Given the description of an element on the screen output the (x, y) to click on. 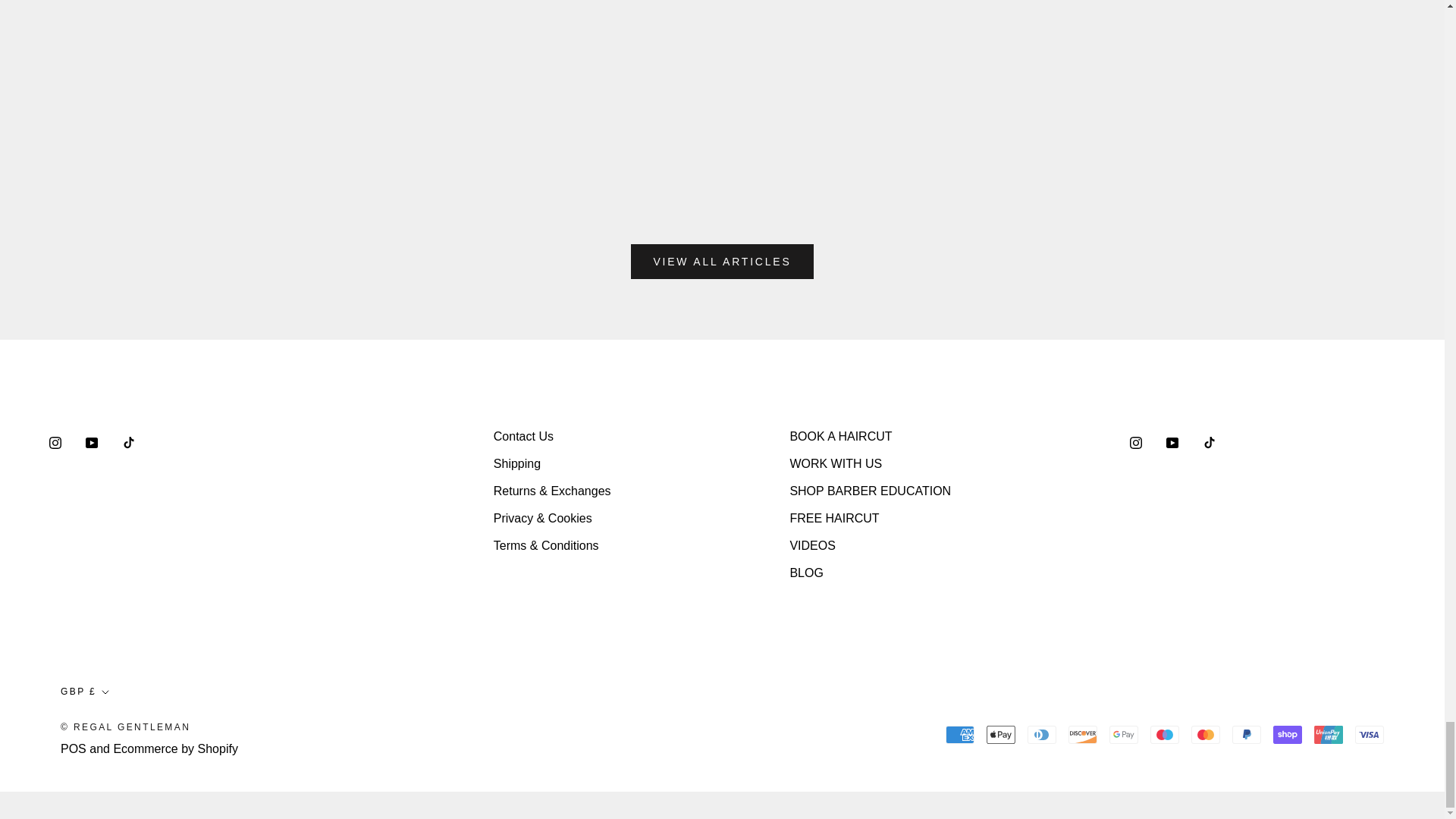
Diners Club (1042, 734)
Apple Pay (1000, 734)
American Express (959, 734)
Discover (1082, 734)
Google Pay (1123, 734)
